Given the description of an element on the screen output the (x, y) to click on. 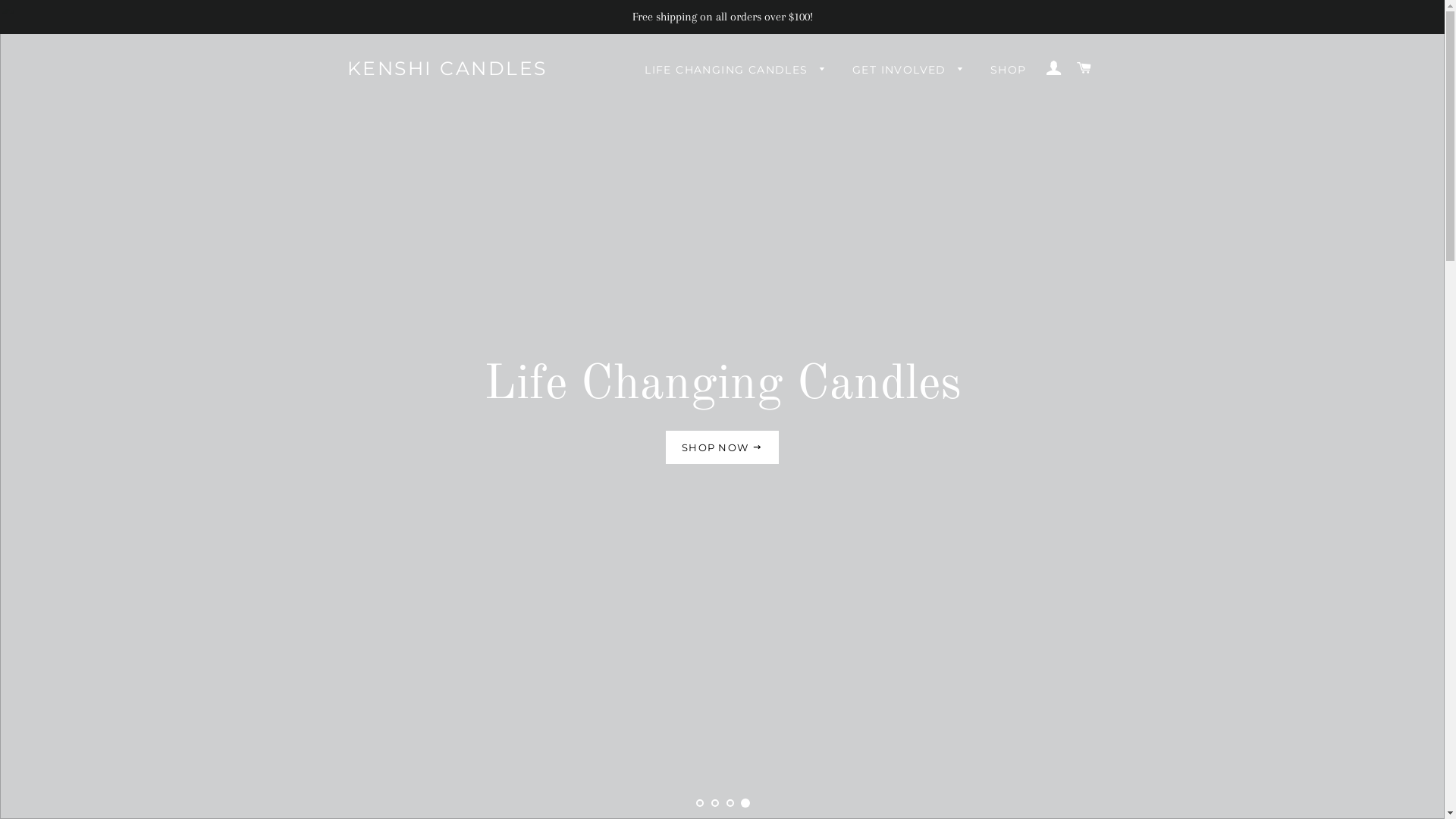
CART Element type: text (1083, 68)
3 Element type: text (729, 801)
LIFE CHANGING CANDLES Element type: text (735, 70)
GET INVOLVED Element type: text (907, 70)
4 Element type: text (744, 801)
1 Element type: text (698, 801)
KENSHI CANDLES Element type: text (447, 68)
SHOP NOW Element type: text (721, 447)
Free shipping on all orders over $100! Element type: text (722, 17)
SHOP Element type: text (1008, 70)
LOG IN Element type: text (1054, 68)
2 Element type: text (713, 801)
